Given the description of an element on the screen output the (x, y) to click on. 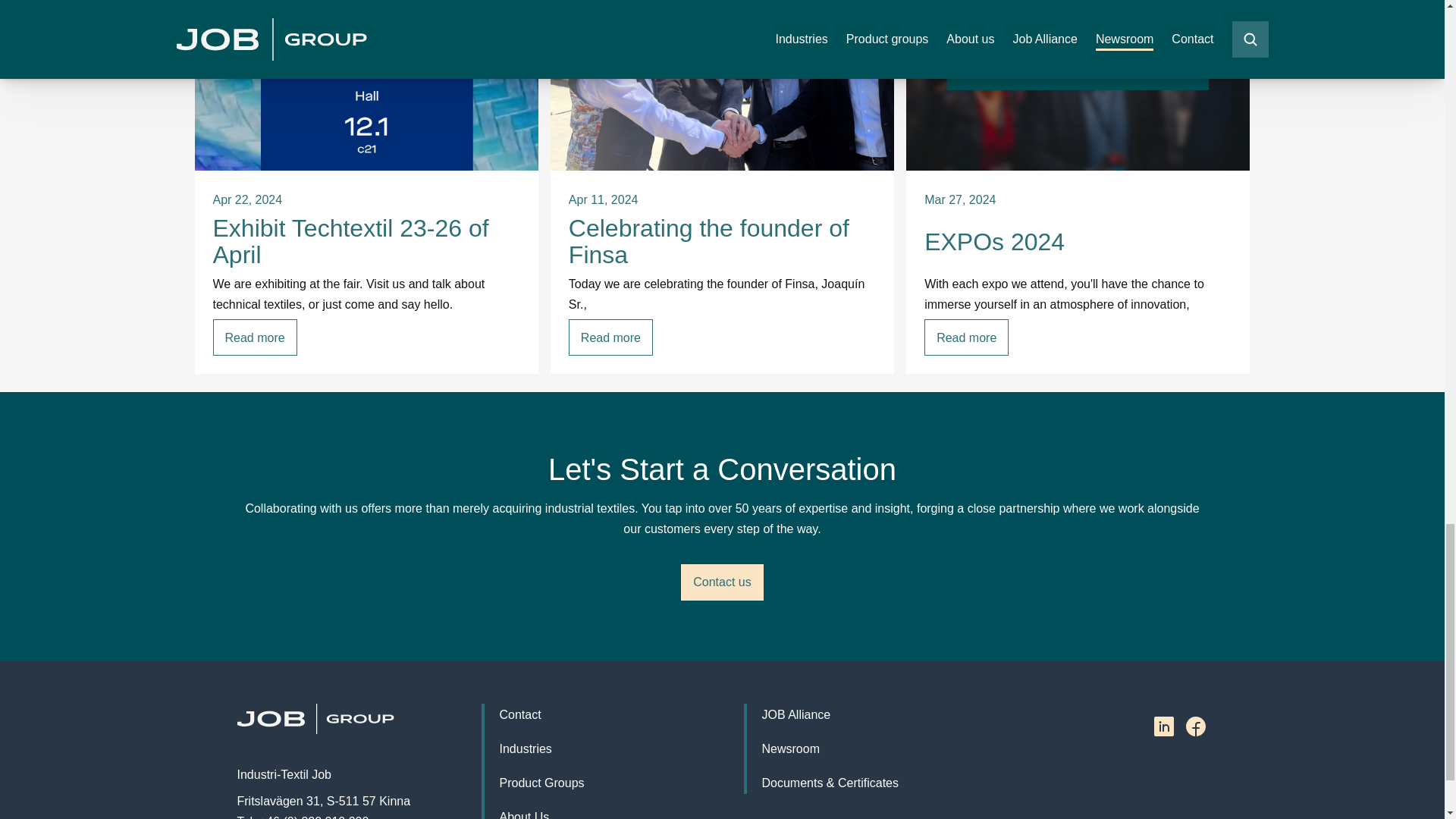
Contact (519, 714)
Read more (610, 337)
Read more (966, 337)
Product Groups (541, 782)
Newsroom (789, 748)
Read more (254, 337)
Contact us (721, 582)
Industries (525, 748)
JOB Alliance (795, 714)
About Us (523, 812)
